Given the description of an element on the screen output the (x, y) to click on. 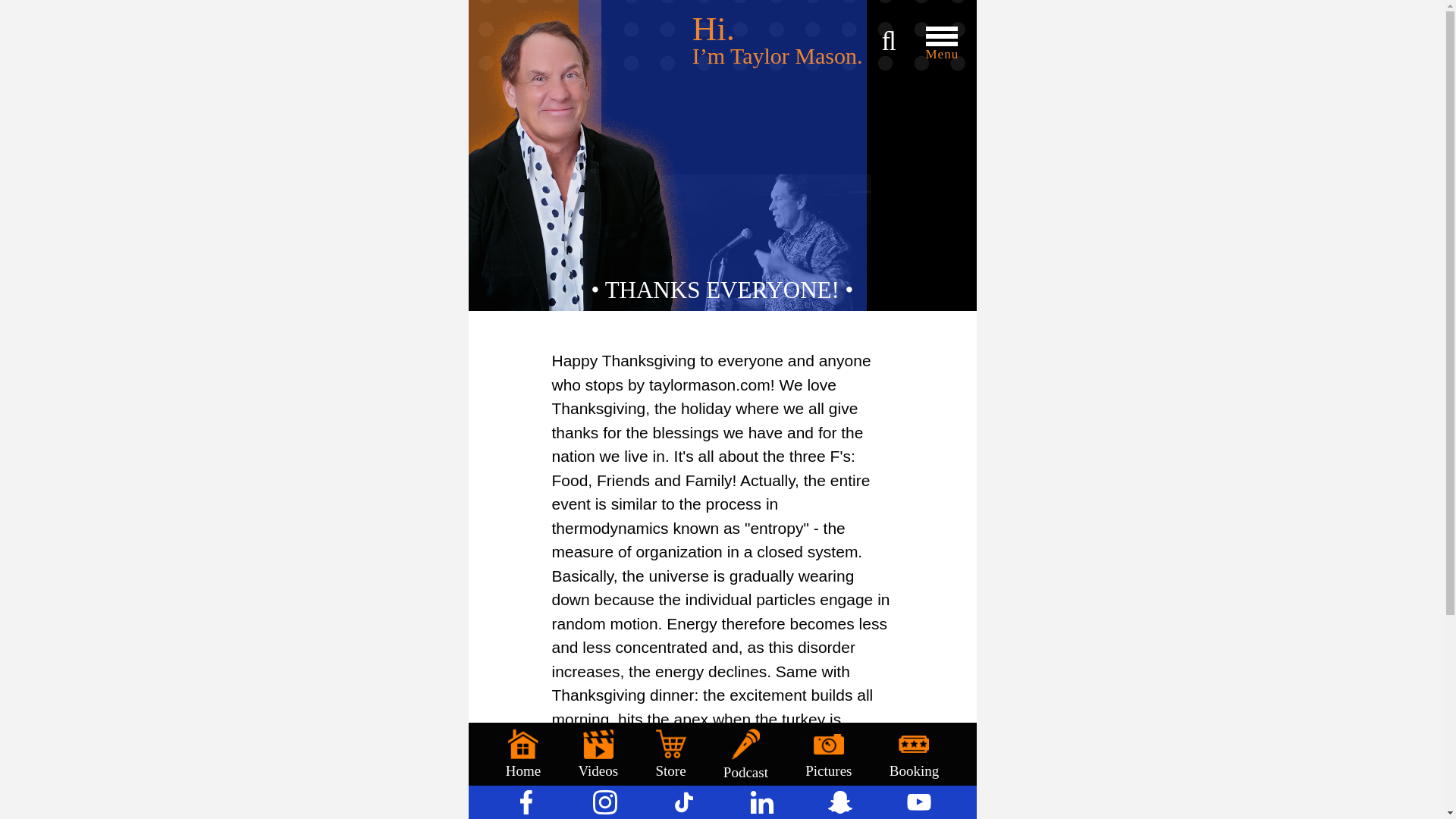
Booking (914, 753)
Pictures (828, 753)
